Given the description of an element on the screen output the (x, y) to click on. 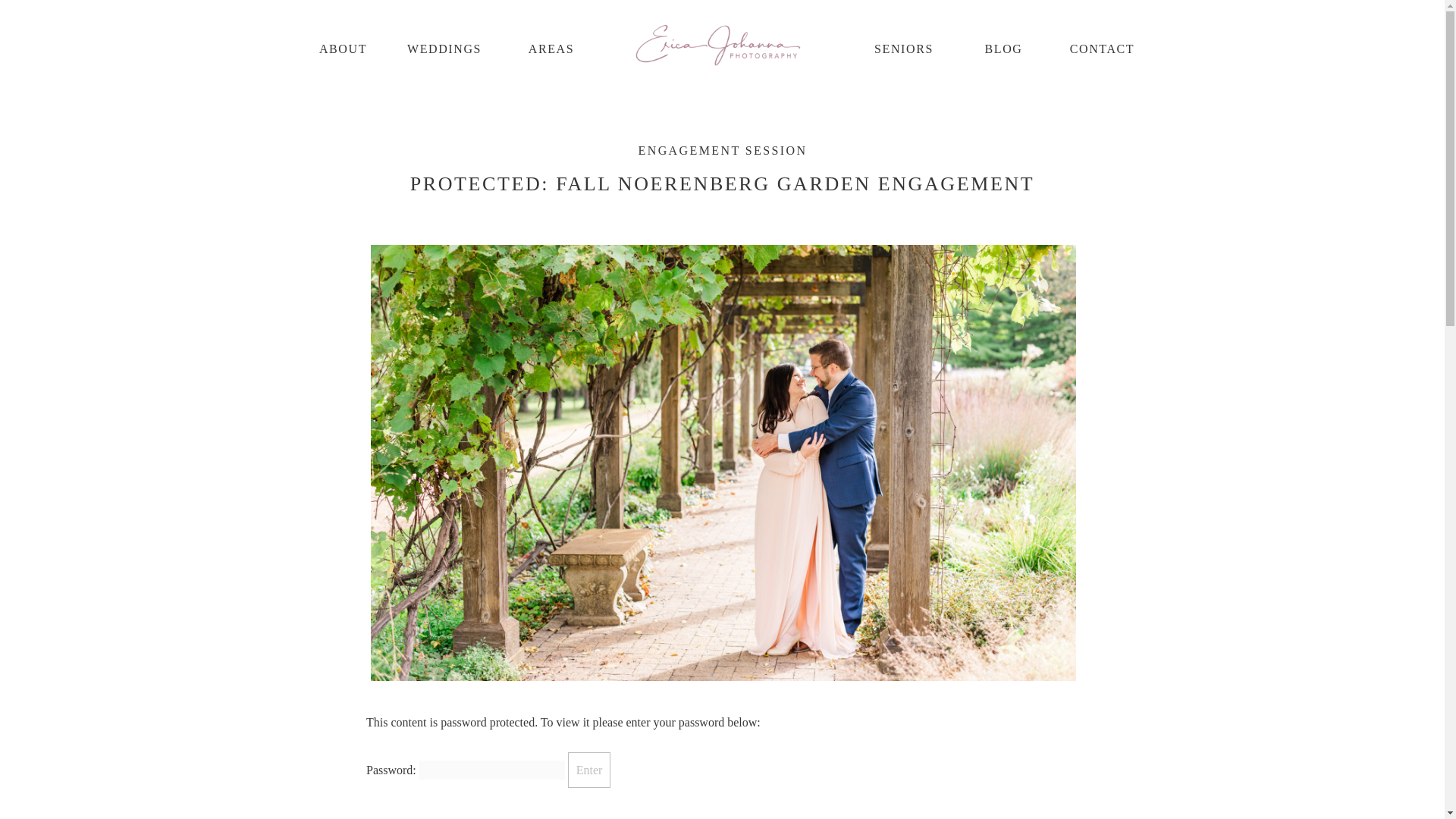
WEDDINGS (443, 48)
BLOG (1002, 48)
SENIORS (903, 48)
AREAS (550, 48)
Enter (589, 770)
Enter (589, 770)
ENGAGEMENT SESSION (723, 150)
ABOUT (342, 48)
CONTACT (1101, 48)
